Given the description of an element on the screen output the (x, y) to click on. 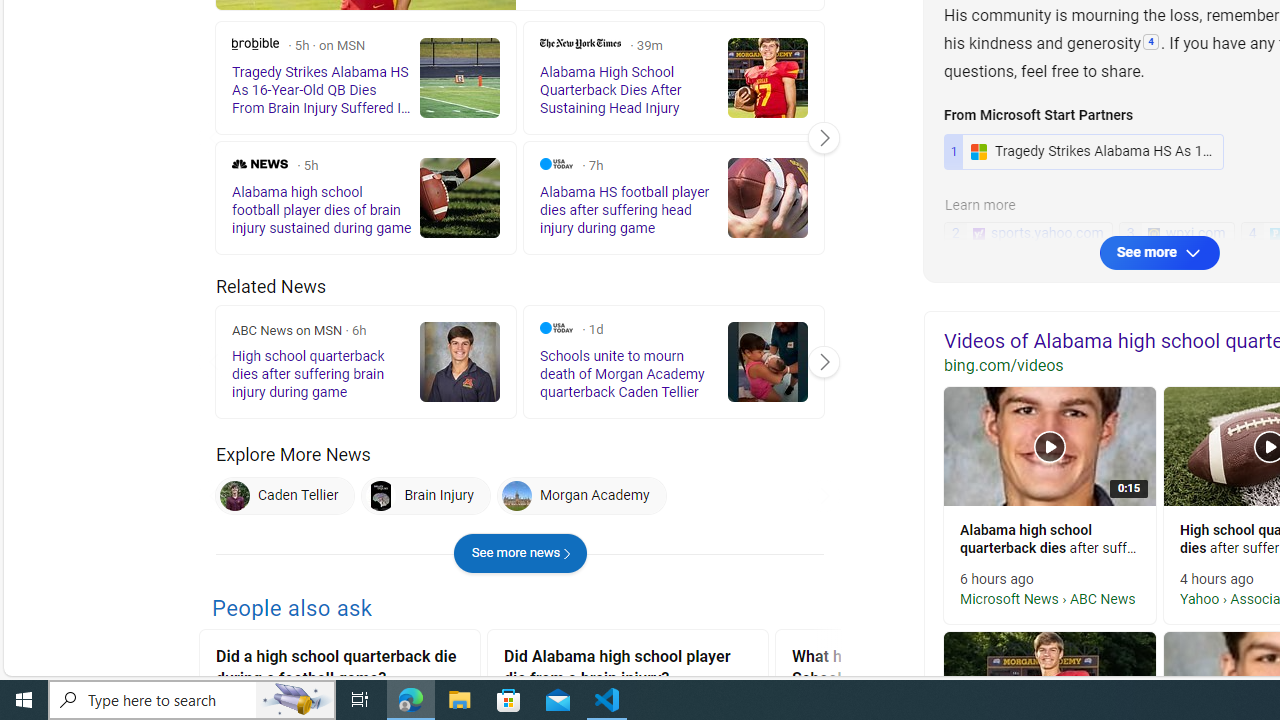
Did a high school quarterback die during a football game? (339, 669)
Caden Tellier Caden Tellier (285, 496)
Caden Tellier (234, 495)
What happened to a Selma High School quarterback? (915, 669)
